Given the description of an element on the screen output the (x, y) to click on. 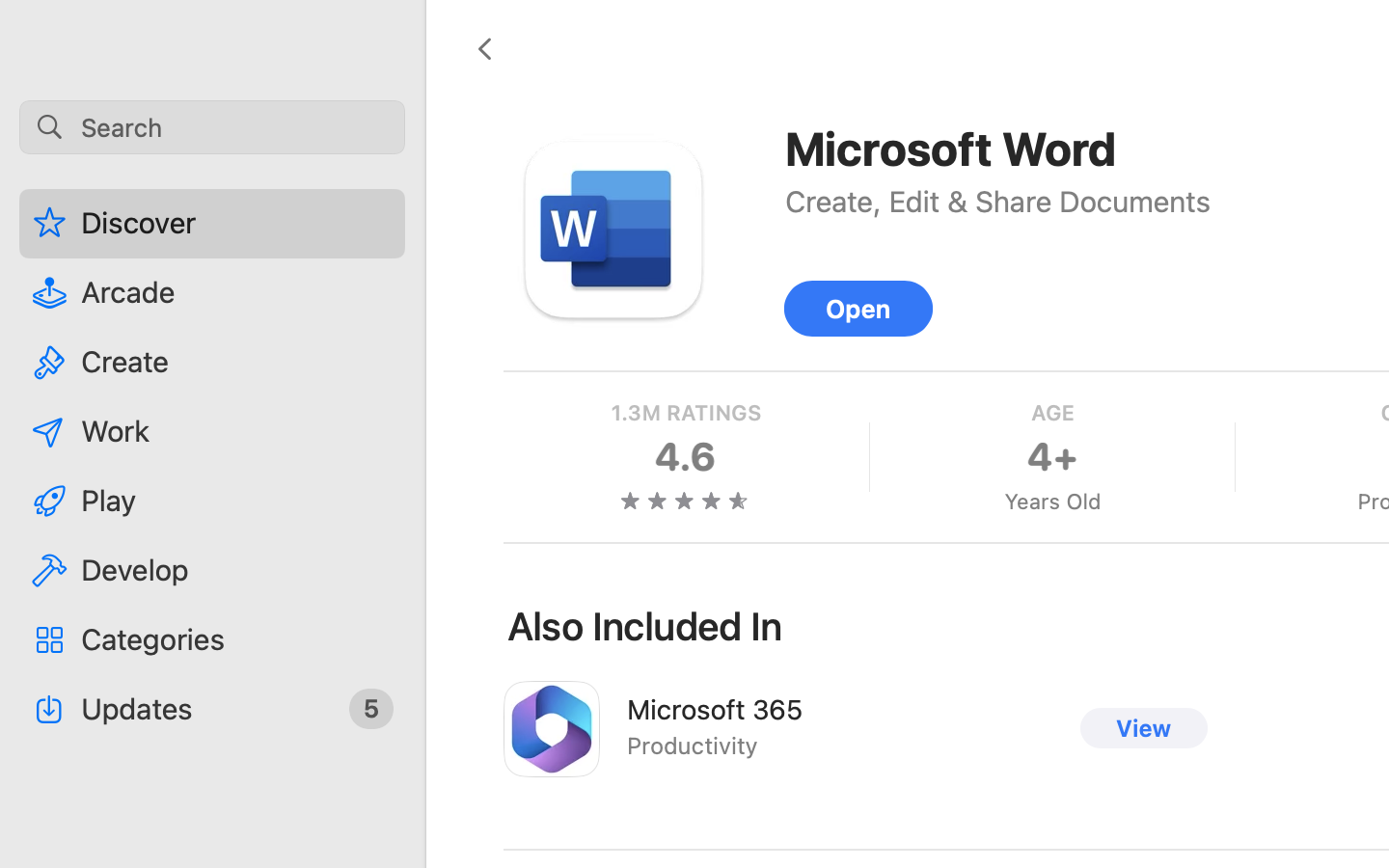
4.6 Element type: AXStaticText (685, 457)
Years Old, AGE, 4+ Element type: AXStaticText (1052, 456)
four and three quarters stars Element type: AXStaticText (685, 500)
